Given the description of an element on the screen output the (x, y) to click on. 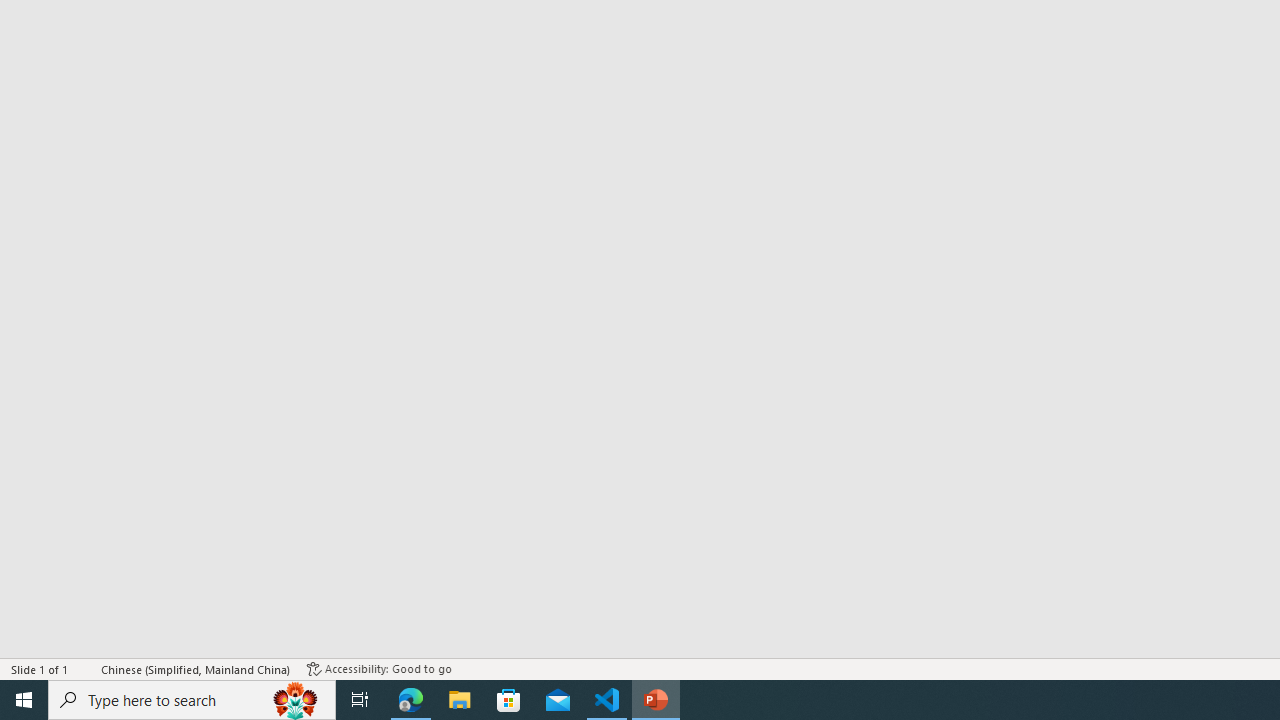
Spell Check  (86, 668)
Accessibility Checker Accessibility: Good to go (379, 668)
